Given the description of an element on the screen output the (x, y) to click on. 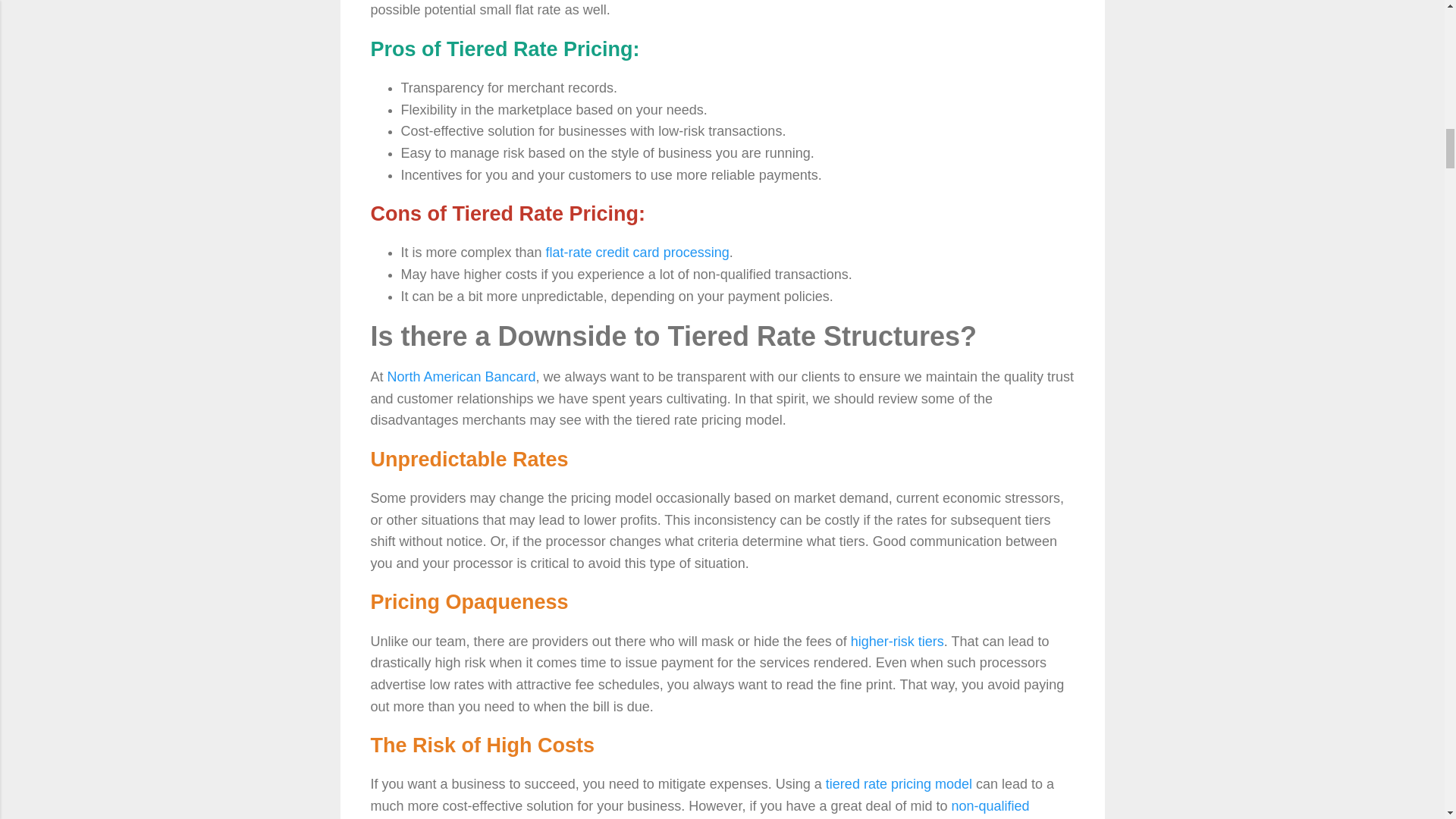
flat-rate credit card processing (637, 252)
higher-risk tiers (896, 641)
tiered rate pricing model (898, 783)
non-qualified transactions (699, 808)
North American Bancard (461, 376)
